Given the description of an element on the screen output the (x, y) to click on. 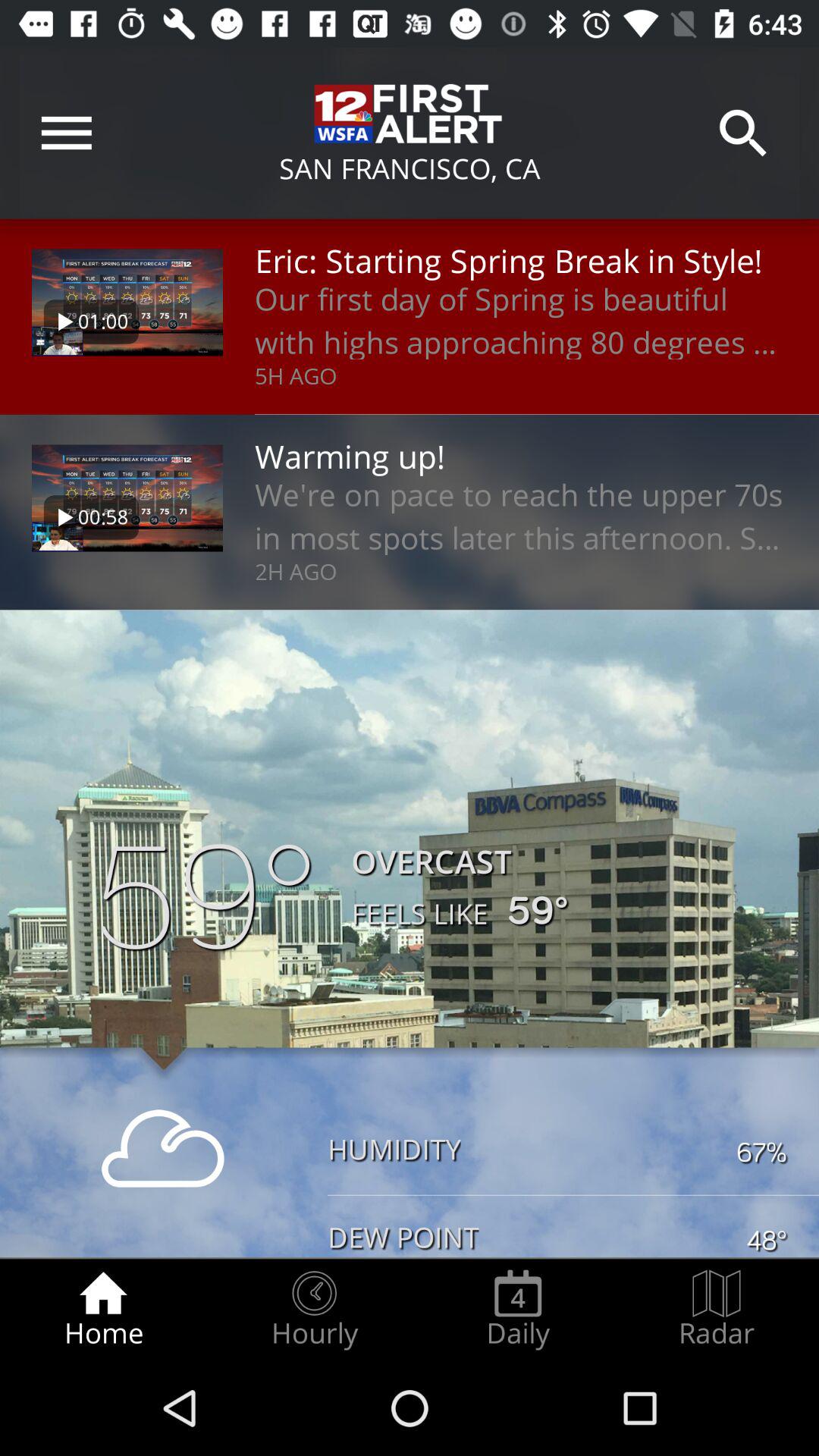
open icon next to hourly icon (103, 1309)
